Given the description of an element on the screen output the (x, y) to click on. 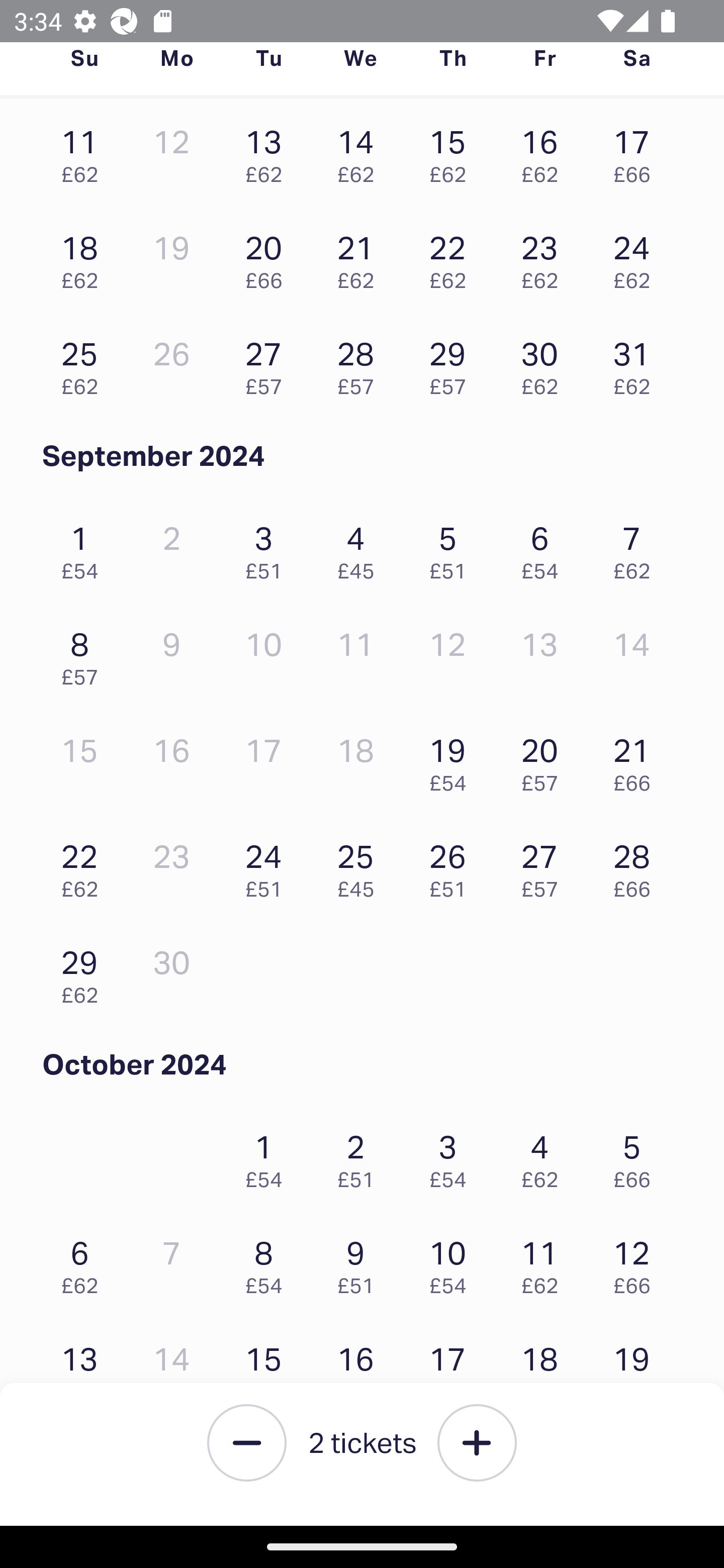
11 £62 (84, 150)
13 £62 (268, 150)
14 £62 (360, 150)
15 £62 (452, 150)
16 £62 (544, 150)
17 £66 (636, 150)
18 £62 (84, 257)
20 £66 (268, 257)
21 £62 (360, 257)
22 £62 (452, 257)
23 £62 (544, 257)
24 £62 (636, 257)
25 £62 (84, 362)
27 £57 (268, 362)
28 £57 (360, 362)
29 £57 (452, 362)
30 £62 (544, 362)
31 £62 (636, 362)
1 £54 (84, 547)
3 £51 (268, 547)
4 £45 (360, 547)
5 £51 (452, 547)
6 £54 (544, 547)
7 £62 (636, 547)
8 £57 (84, 654)
19 £54 (452, 759)
20 £57 (544, 759)
21 £66 (636, 759)
22 £62 (84, 865)
24 £51 (268, 865)
25 £45 (360, 865)
26 £51 (452, 865)
27 £57 (544, 865)
28 £66 (636, 865)
29 £62 (84, 971)
1 £54 (268, 1156)
2 £51 (360, 1156)
3 £54 (452, 1156)
4 £62 (544, 1156)
5 £66 (636, 1156)
6 £62 (84, 1262)
8 £54 (268, 1262)
9 £51 (360, 1262)
10 £54 (452, 1262)
11 £62 (544, 1262)
12 £66 (636, 1262)
13 £62 (84, 1367)
15 £54 (268, 1367)
16 £54 (360, 1367)
17 £57 (452, 1367)
18 £62 (544, 1367)
19 £69 (636, 1367)
